Given the description of an element on the screen output the (x, y) to click on. 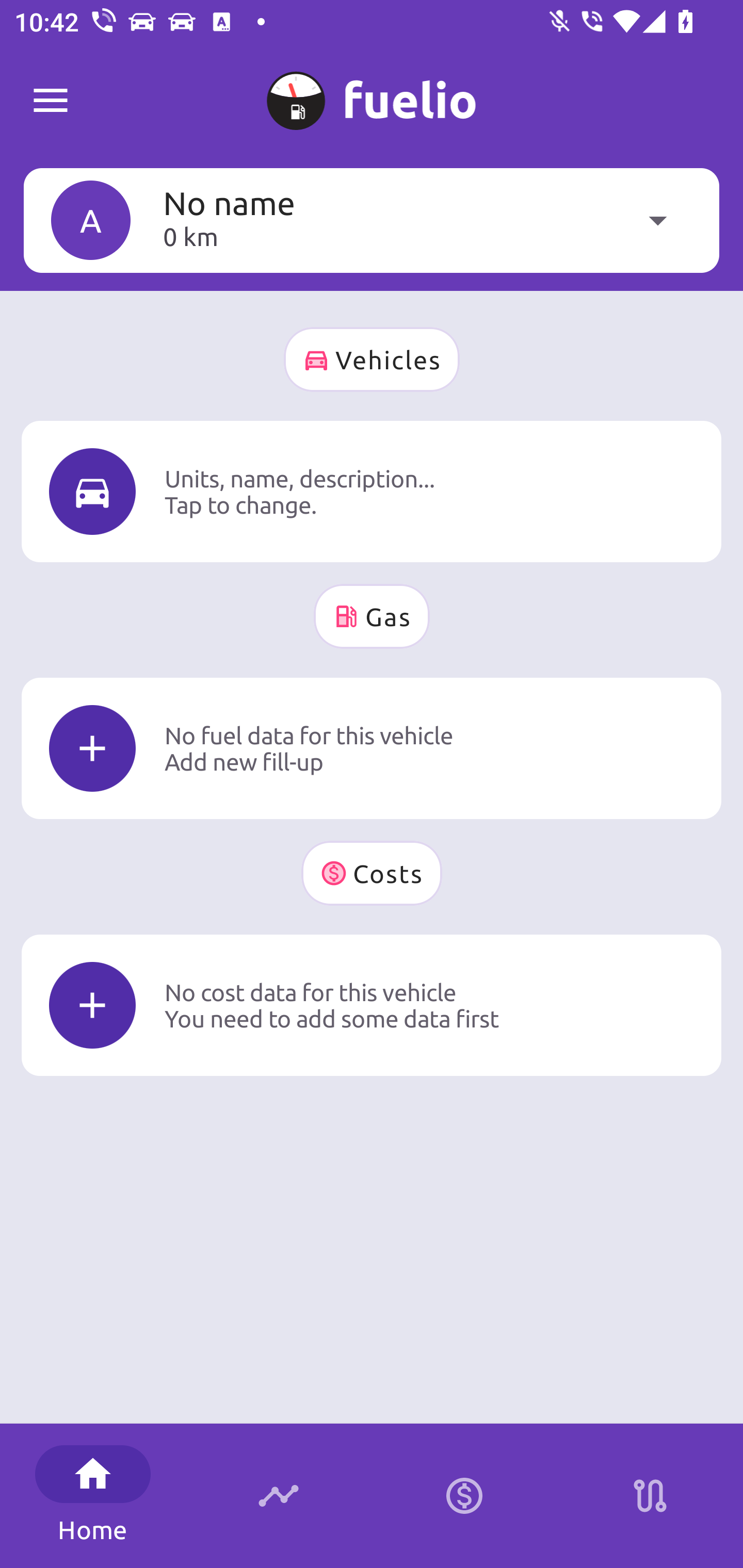
Fuelio (50, 101)
A No name 0 km (371, 219)
Vehicles (371, 359)
Icon Units, name, description...
Tap to change. (371, 491)
Icon (92, 491)
Gas (371, 616)
Icon No fuel data for this vehicle
Add new fill-up (371, 747)
Icon (92, 748)
Costs (371, 873)
Icon (92, 1004)
Timeline (278, 1495)
Calculator (464, 1495)
Stations on route (650, 1495)
